Given the description of an element on the screen output the (x, y) to click on. 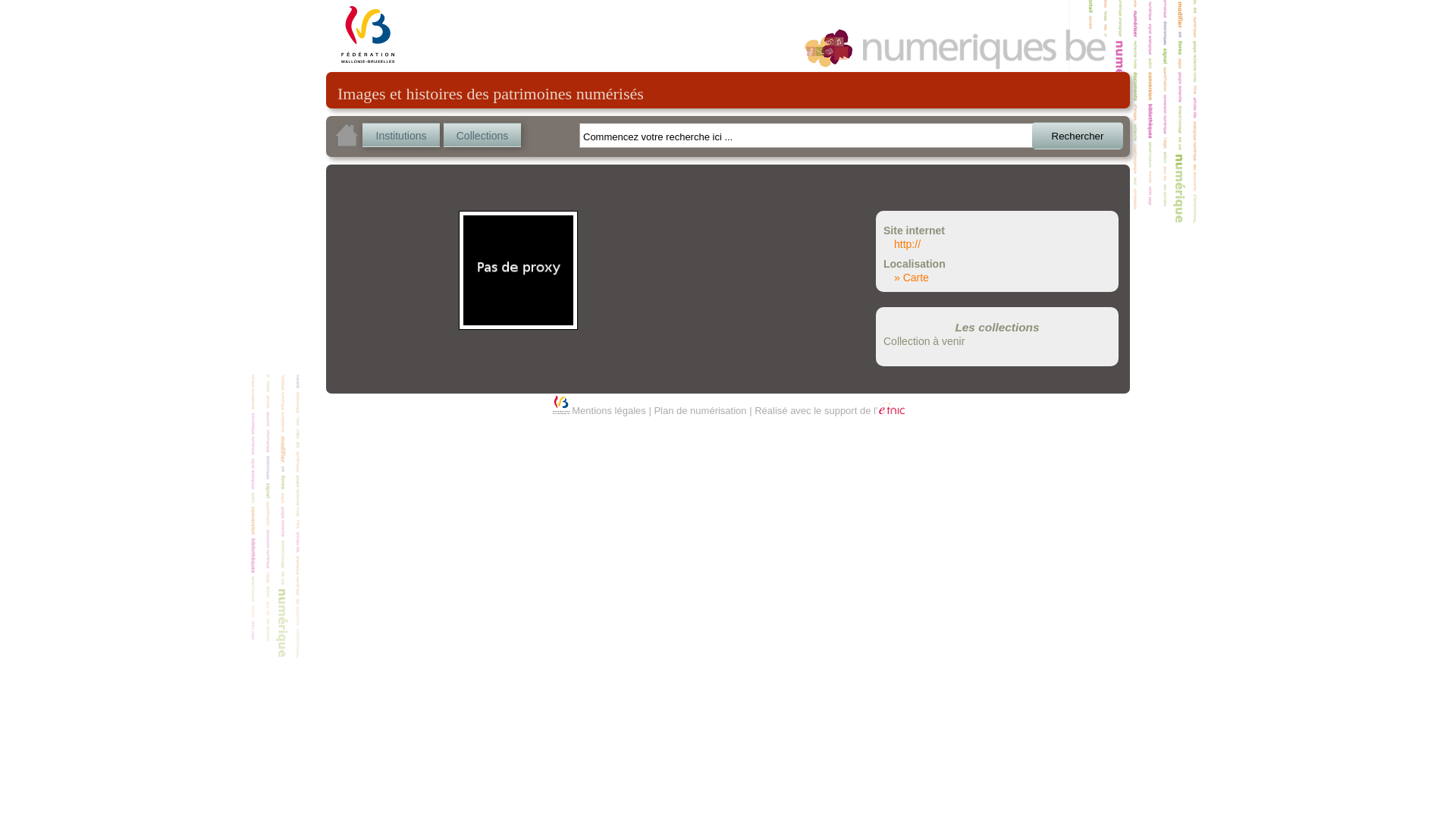
Rechercher Element type: text (1077, 135)
Institutions Element type: text (400, 134)
Collections Element type: text (481, 134)
http:// Element type: text (907, 244)
